Given the description of an element on the screen output the (x, y) to click on. 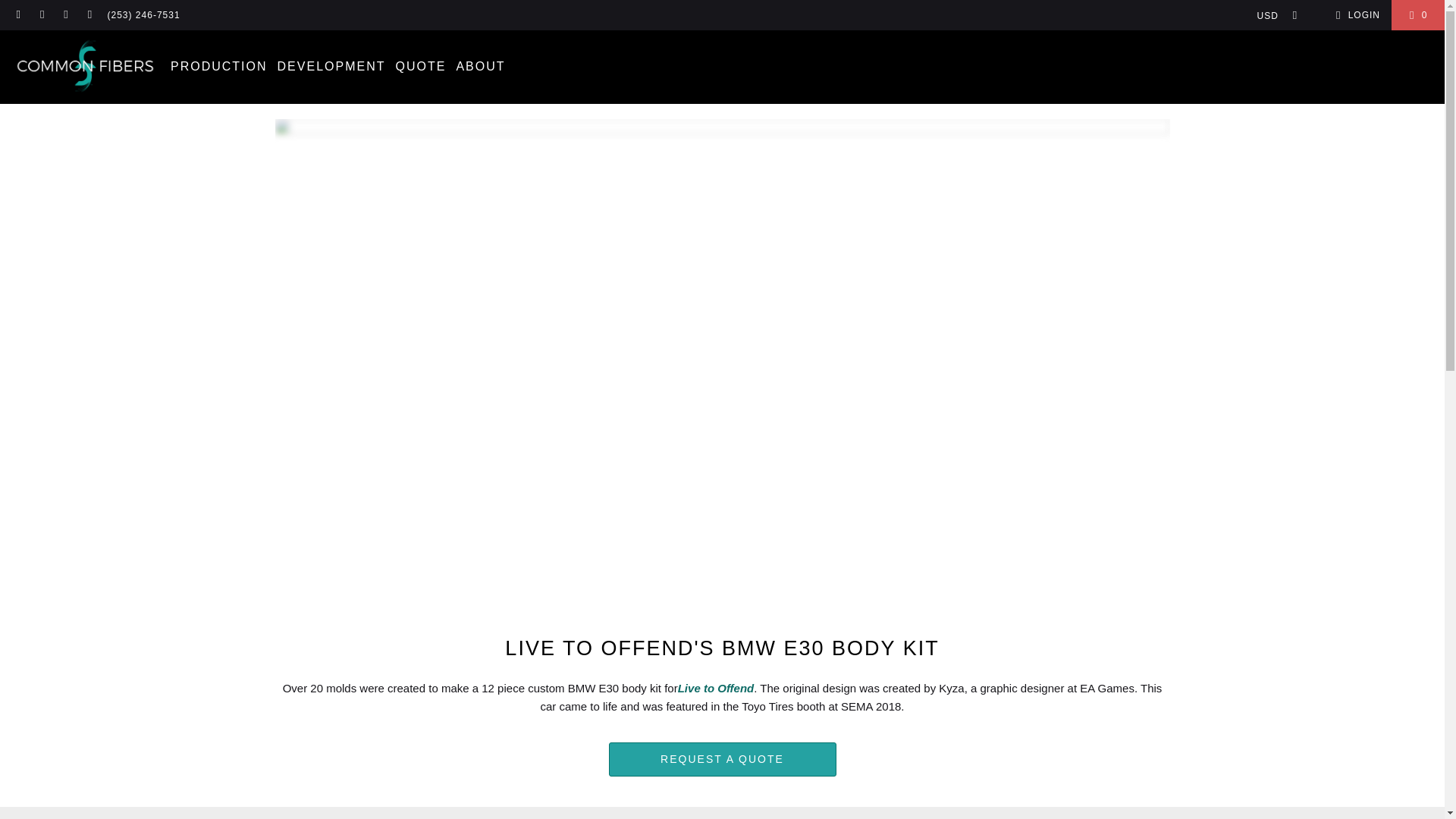
QUOTE (419, 66)
ABOUT (480, 66)
Common Fibers on Instagram (41, 14)
LOGIN (1355, 14)
My Account  (1355, 14)
Live to Offend (716, 687)
REQUEST A QUOTE (721, 759)
Live to Offend (716, 687)
PRODUCTION (218, 66)
DEVELOPMENT (331, 66)
Common Fibers on Facebook (17, 14)
Common Fibers (84, 66)
Common Fibers on TikTok (65, 14)
Common Fibers on YouTube (89, 14)
USD (1272, 15)
